Given the description of an element on the screen output the (x, y) to click on. 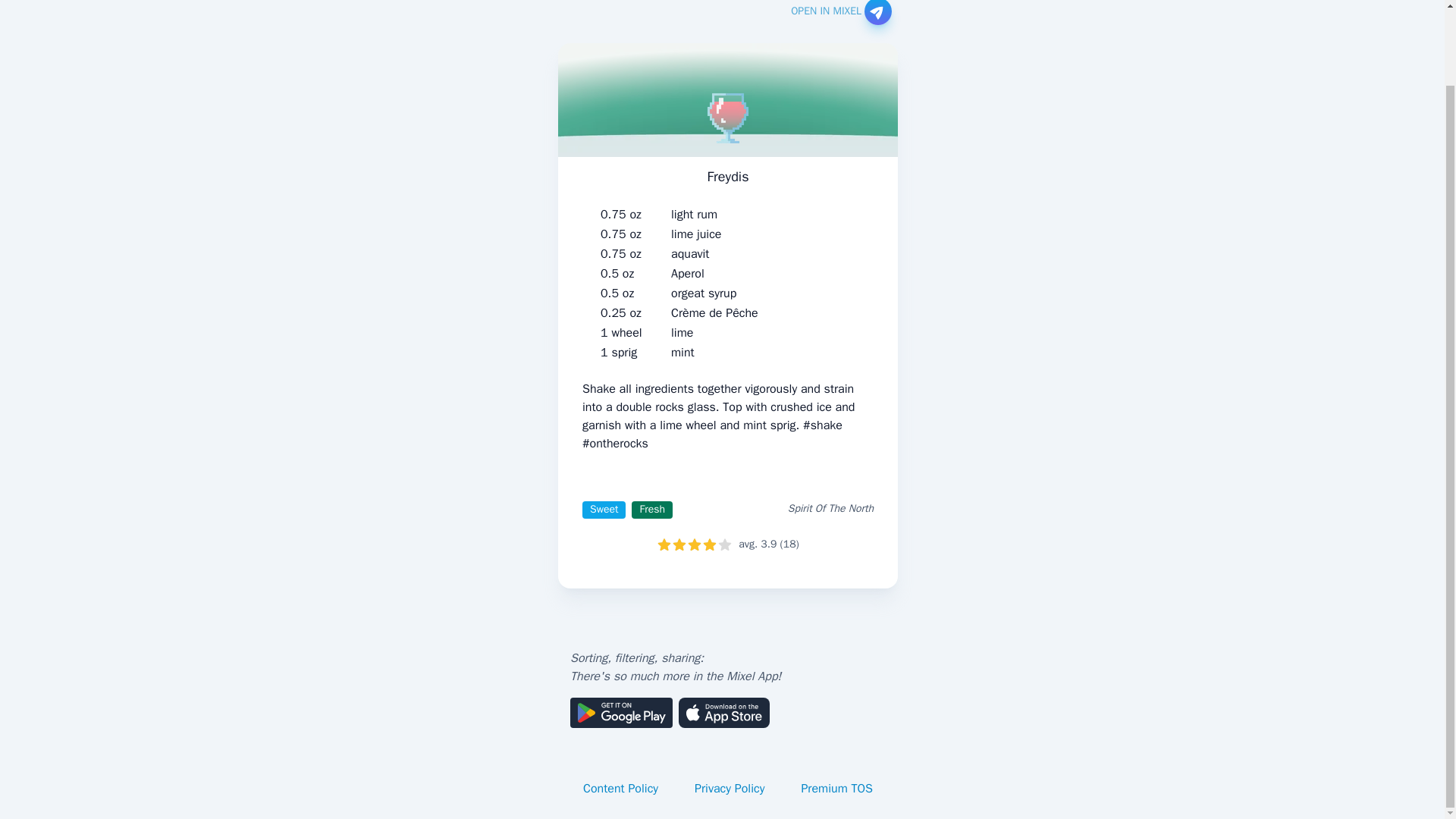
mint (682, 352)
OPEN IN MIXEL (840, 12)
lime (682, 332)
Content Policy (620, 788)
light rum (694, 214)
orgeat syrup (703, 293)
aquavit (690, 253)
lime juice (695, 234)
Aperol (687, 273)
Privacy Policy (729, 788)
Premium TOS (836, 788)
